Given the description of an element on the screen output the (x, y) to click on. 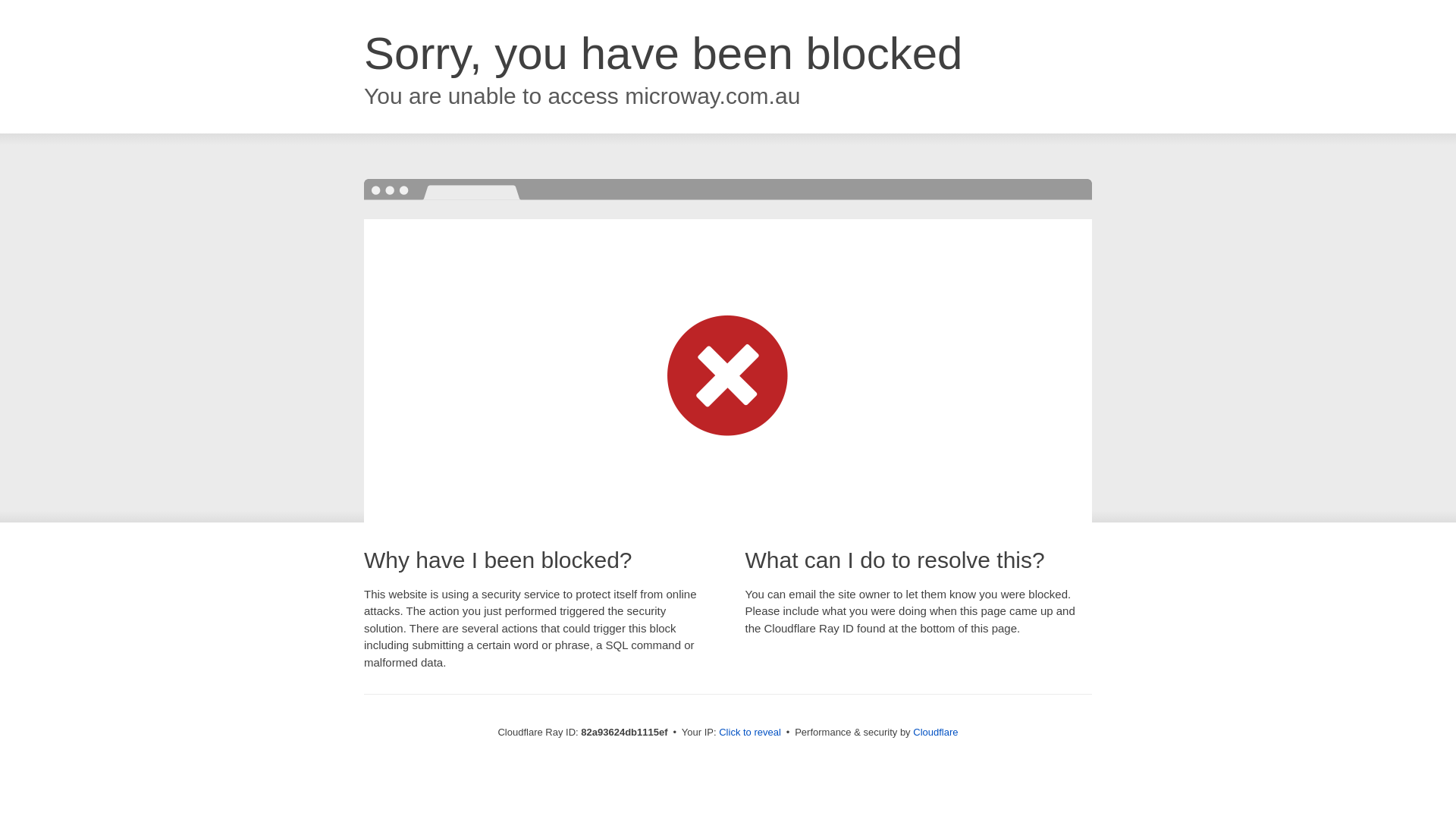
Click to reveal Element type: text (749, 732)
Cloudflare Element type: text (935, 731)
